Given the description of an element on the screen output the (x, y) to click on. 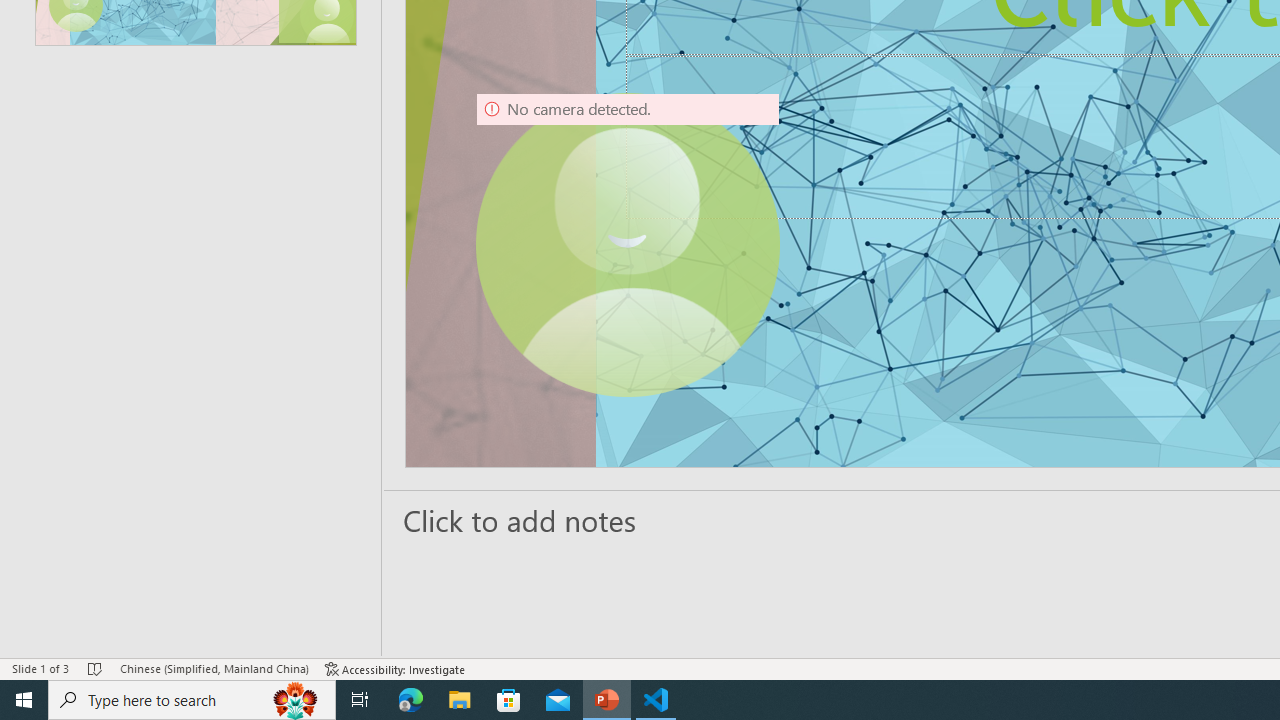
Camera 9, No camera detected. (627, 245)
